Given the description of an element on the screen output the (x, y) to click on. 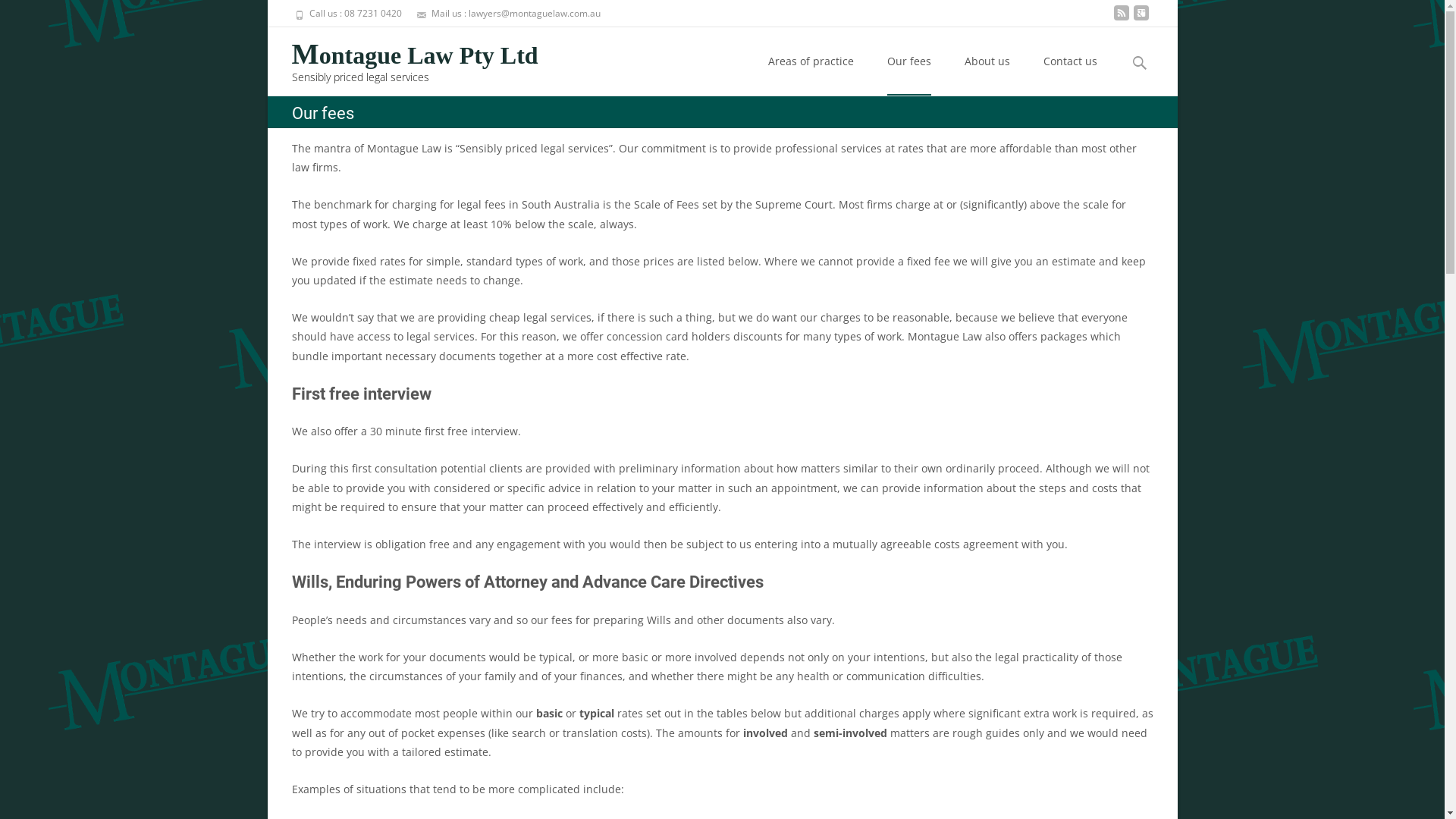
Contact us Element type: text (1070, 61)
Search Element type: text (18, 15)
feed Element type: hover (1120, 18)
Search Element type: text (36, 16)
About us Element type: text (987, 61)
Our fees Element type: text (909, 61)
Montague Law Pty Ltd
Sensibly priced legal services Element type: text (401, 57)
googleplus Element type: hover (1140, 18)
Skip to content Element type: text (752, 26)
Areas of practice Element type: text (810, 61)
